Given the description of an element on the screen output the (x, y) to click on. 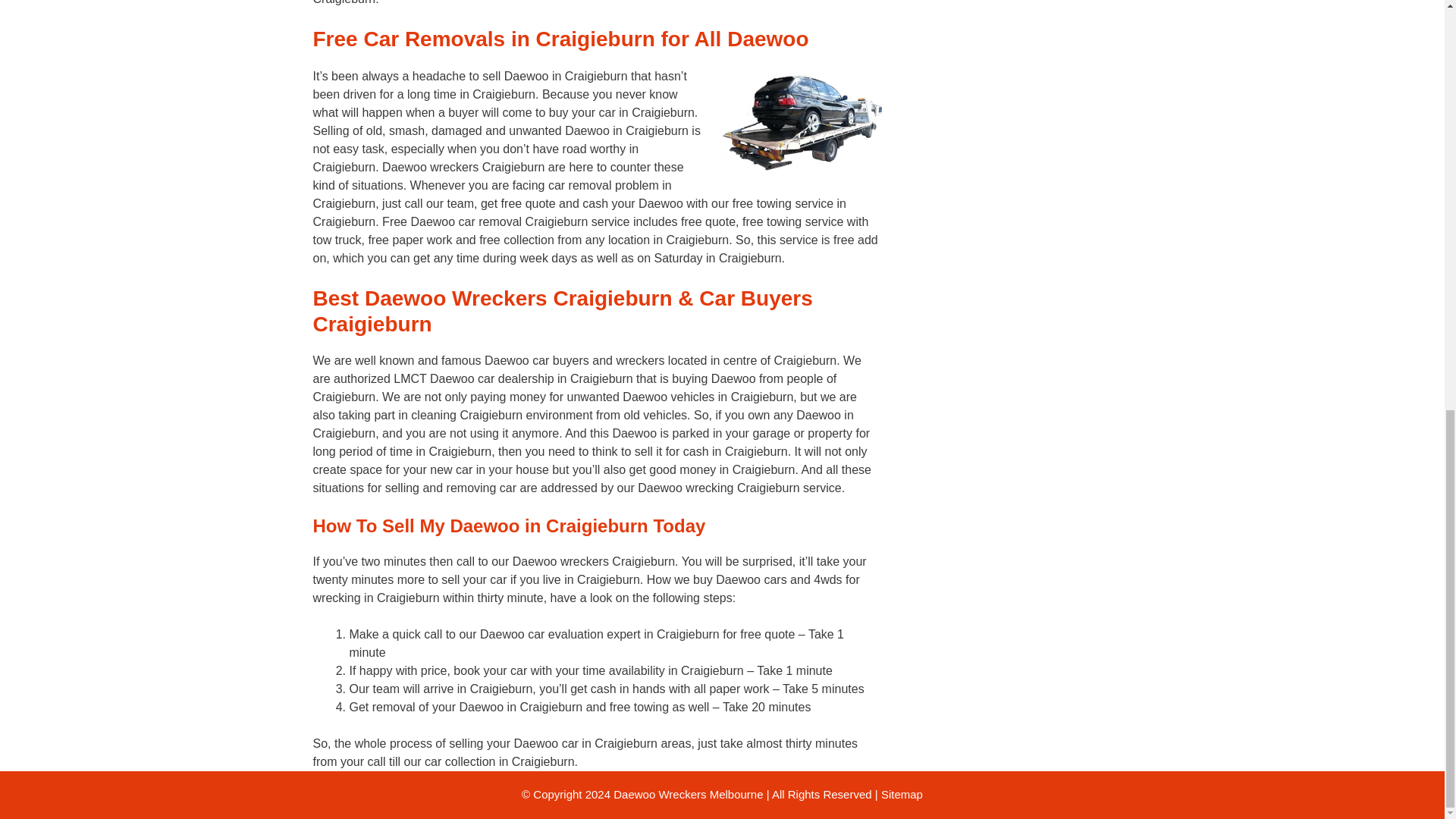
Sitemap (901, 793)
daewoo car removal Craigieburn (801, 123)
Daewoo Wreckers Melbourne (687, 793)
